Given the description of an element on the screen output the (x, y) to click on. 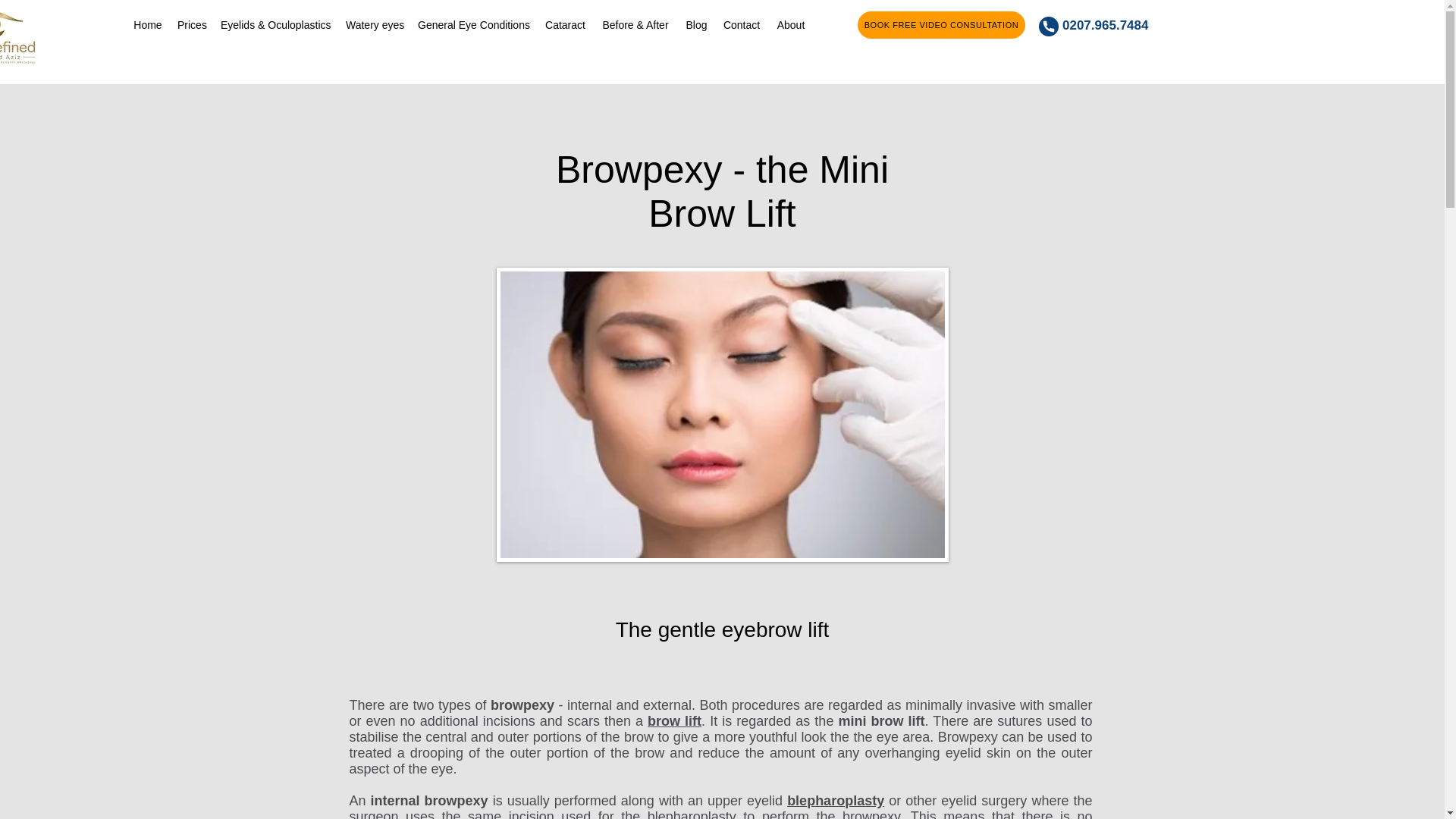
Blog (696, 24)
About (790, 24)
brow lift (674, 720)
blepharoplasty (835, 800)
Cataract (564, 24)
Contact (741, 24)
Prices (191, 24)
General Eye Conditions (473, 24)
Watery eyes (373, 24)
BOOK FREE VIDEO CONSULTATION (941, 24)
